Given the description of an element on the screen output the (x, y) to click on. 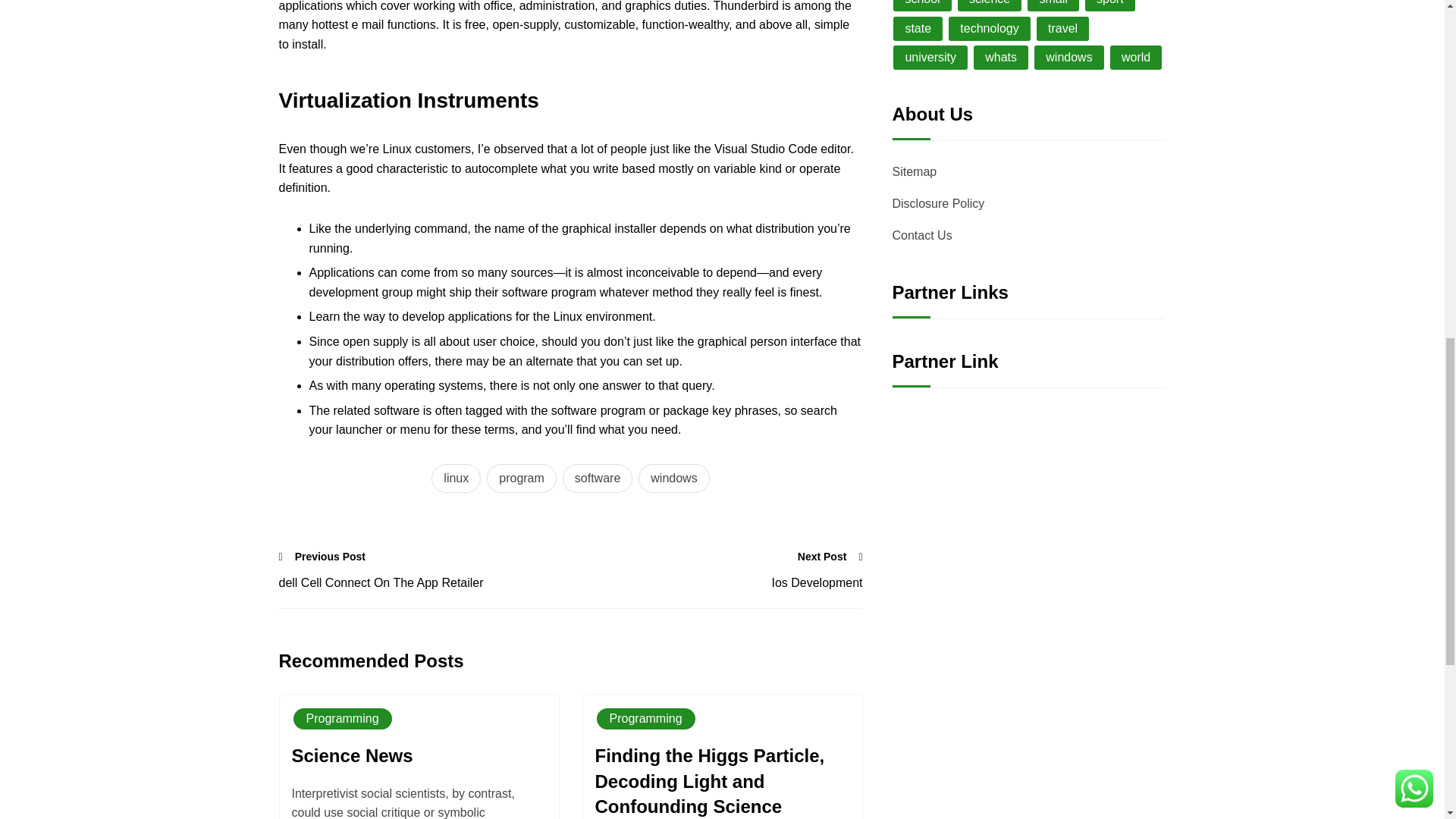
software (596, 478)
Programming (342, 718)
dell Cell Connect On The App Retailer (424, 582)
Programming (644, 718)
program (521, 478)
windows (674, 478)
Ios Development (715, 582)
Science News (351, 757)
linux (455, 478)
